Given the description of an element on the screen output the (x, y) to click on. 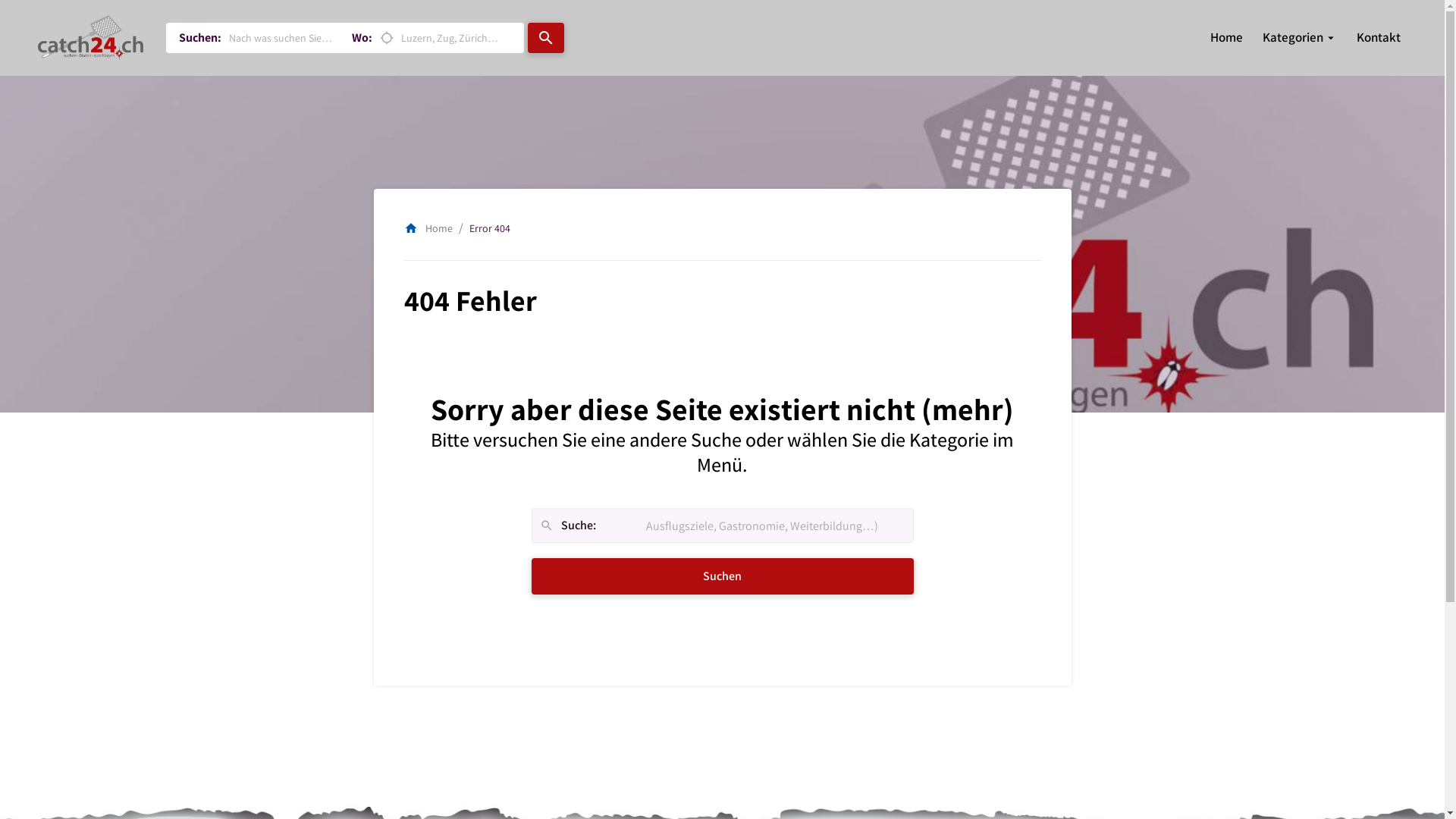
Error 404 Element type: text (488, 228)
Kategorien Element type: text (1292, 37)
Suchen
Search Element type: text (721, 576)
search Element type: text (545, 37)
Kontakt Element type: text (1378, 37)
Home Element type: text (1226, 37)
homeHome Element type: text (427, 228)
